Given the description of an element on the screen output the (x, y) to click on. 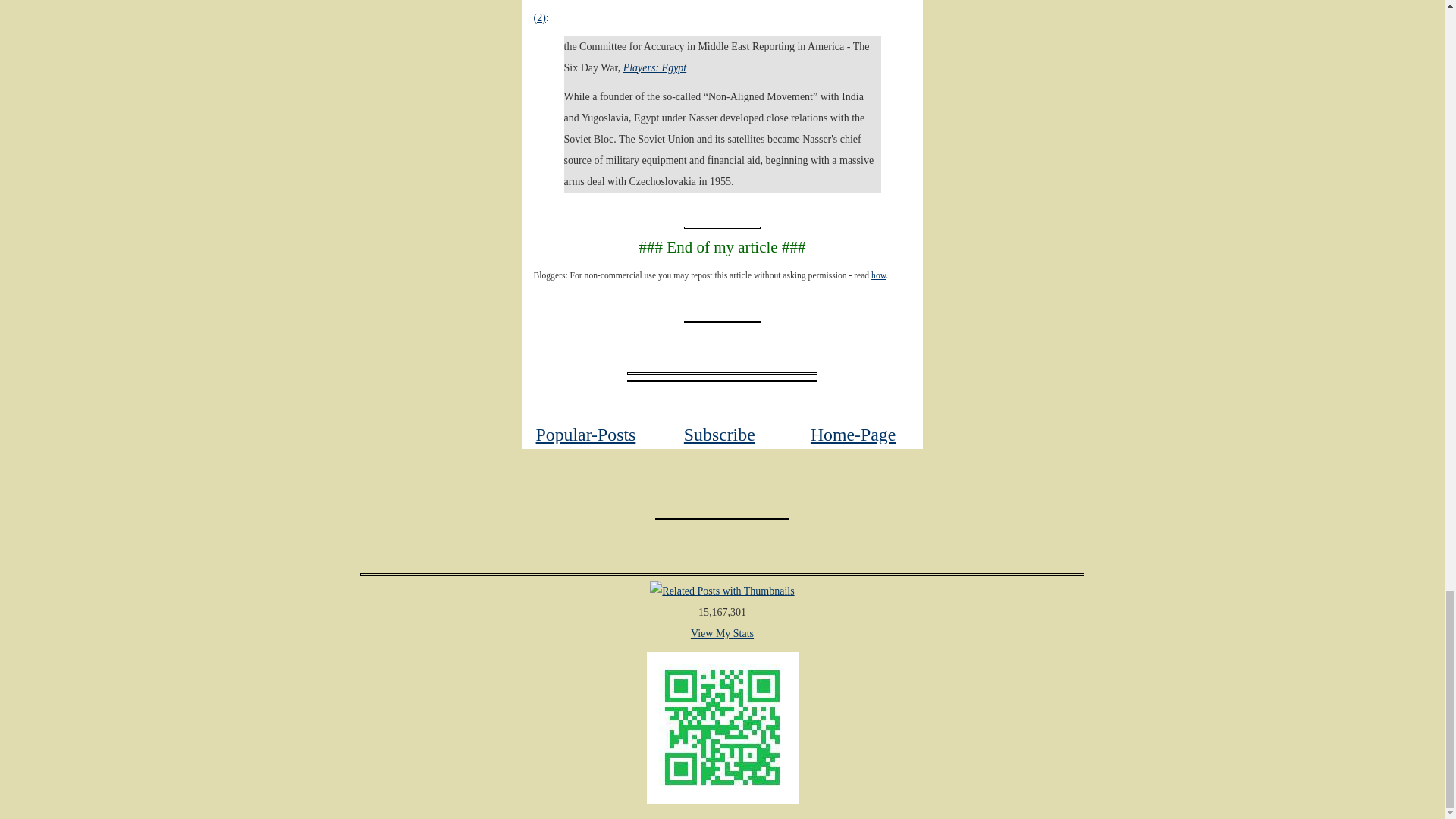
Home-Page (852, 434)
View My Stats (722, 633)
how (877, 275)
Players: Egypt (655, 67)
Subscribe (719, 434)
Popular-Posts (585, 434)
